Given the description of an element on the screen output the (x, y) to click on. 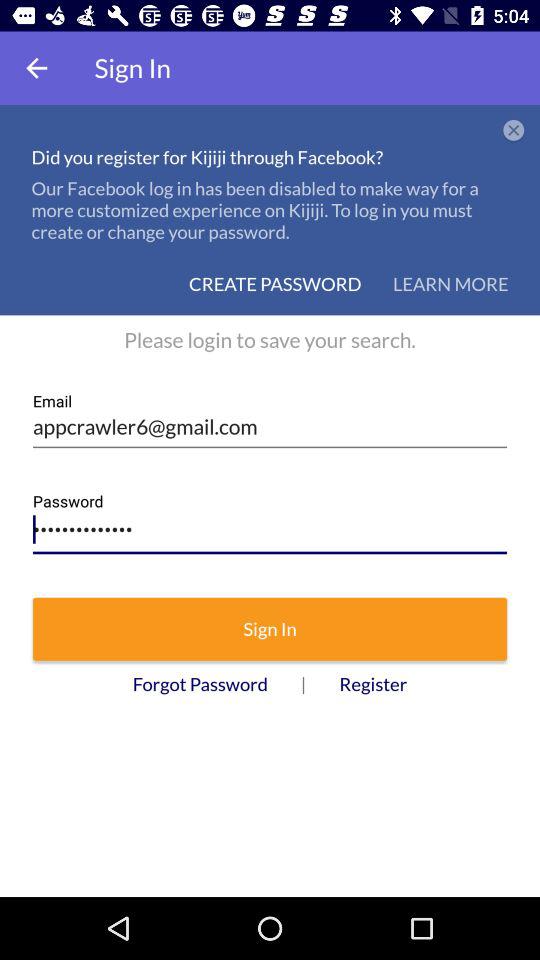
turn off item next to create password icon (450, 283)
